Given the description of an element on the screen output the (x, y) to click on. 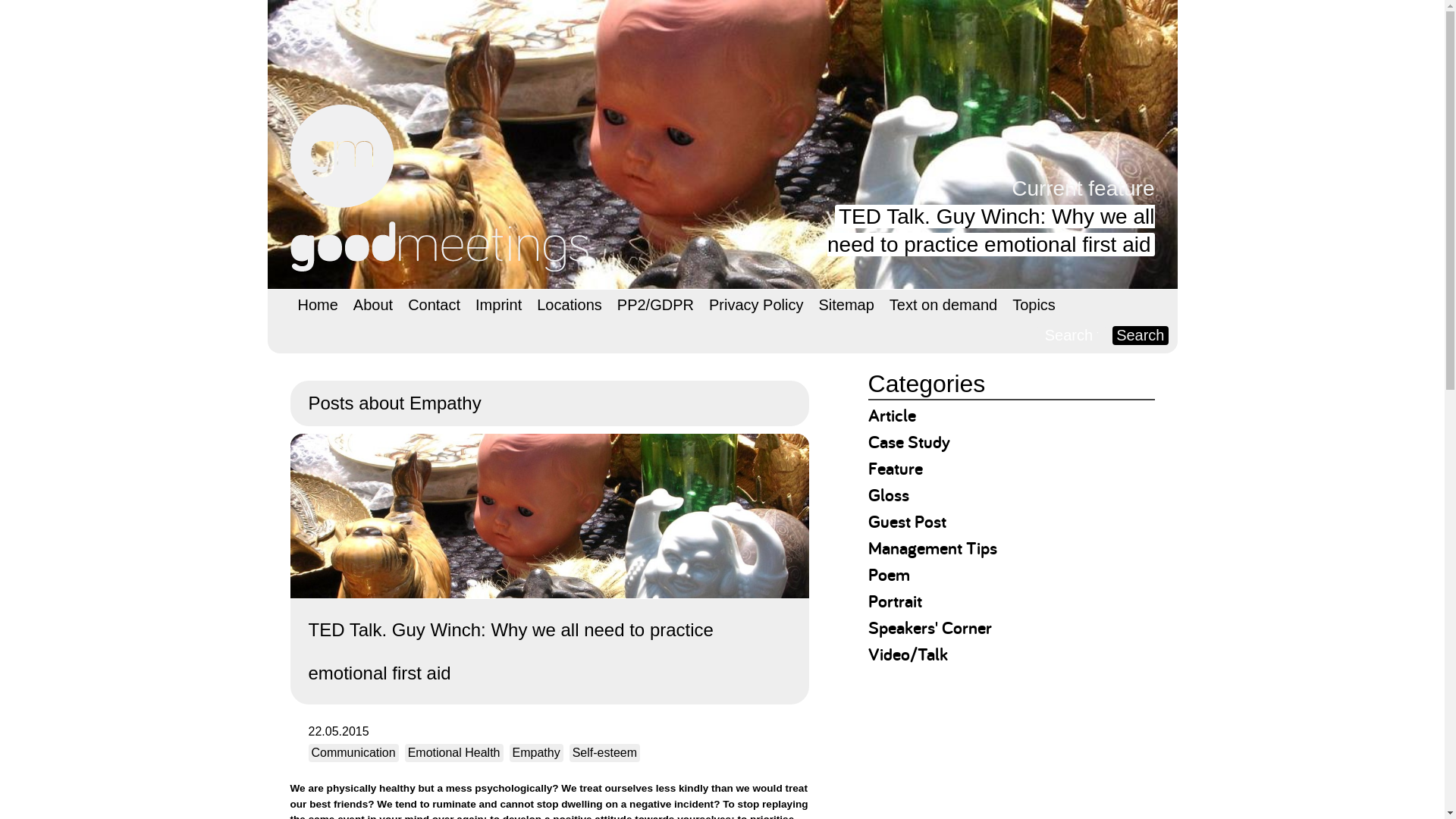
Contact (433, 304)
Self-esteem (604, 752)
Emotional Health (453, 752)
Search (1139, 334)
Text on demand (943, 304)
Privacy Policy (755, 304)
Management Tips (932, 547)
Search (1139, 334)
About (373, 304)
Poem (888, 574)
Sitemap (845, 304)
Gloss (887, 494)
Communication (352, 752)
